Given the description of an element on the screen output the (x, y) to click on. 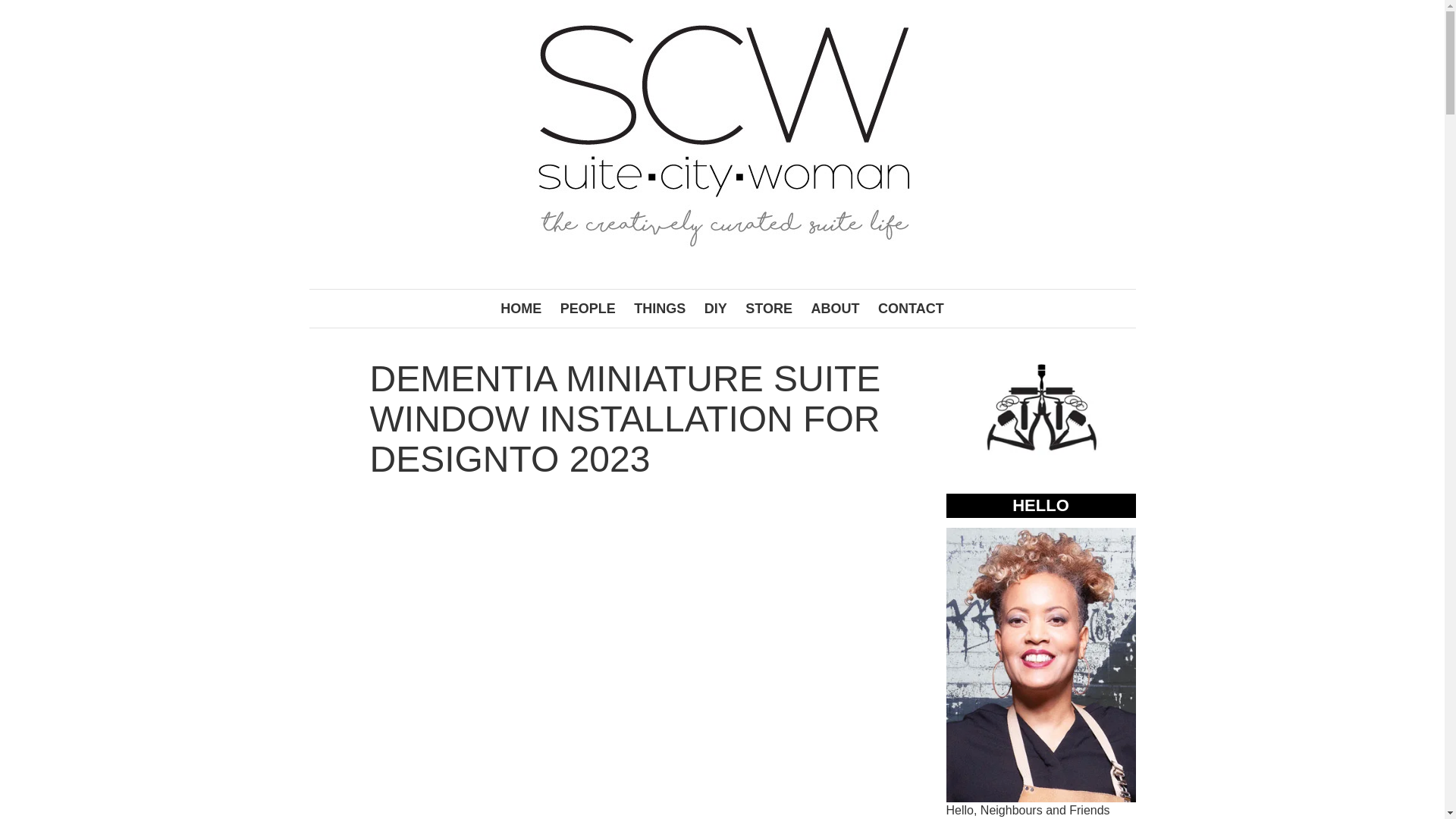
ABOUT (835, 308)
CONTACT (911, 308)
THINGS (659, 308)
DIY (716, 308)
PEOPLE (588, 308)
STORE (768, 308)
HOME (520, 308)
